Given the description of an element on the screen output the (x, y) to click on. 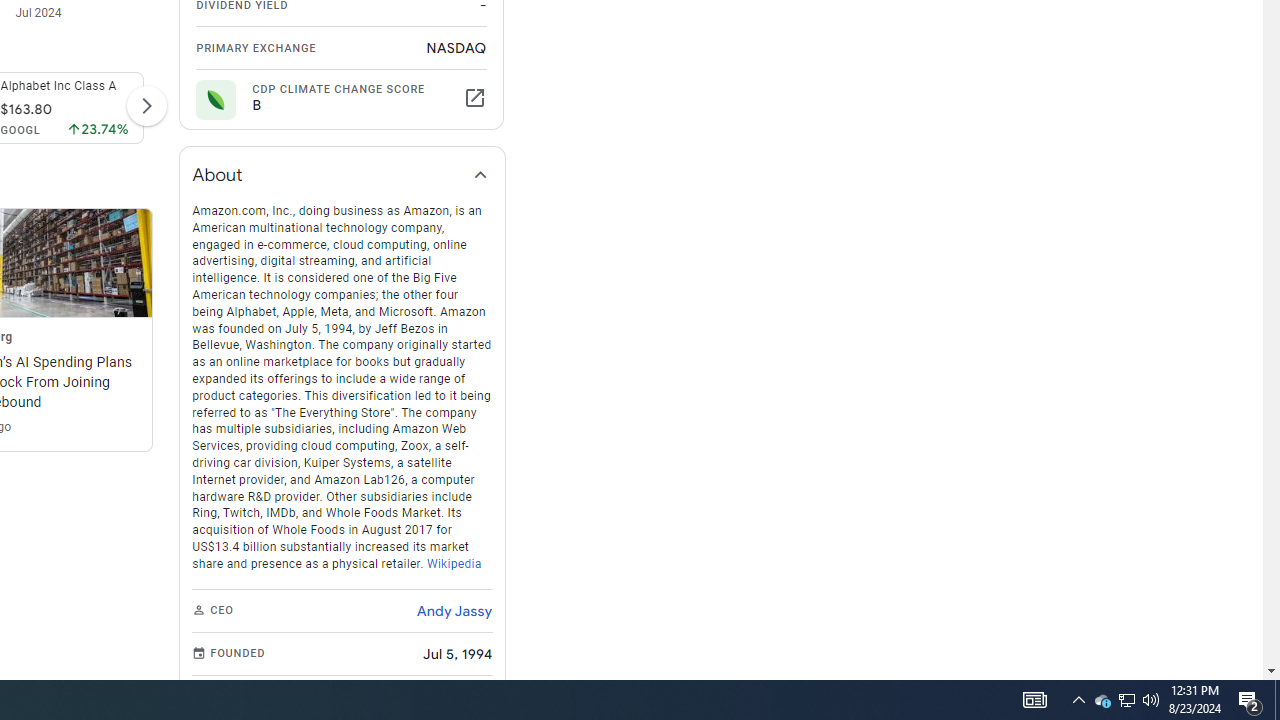
Wikipedia (454, 562)
Andy Jassy (454, 609)
